Given the description of an element on the screen output the (x, y) to click on. 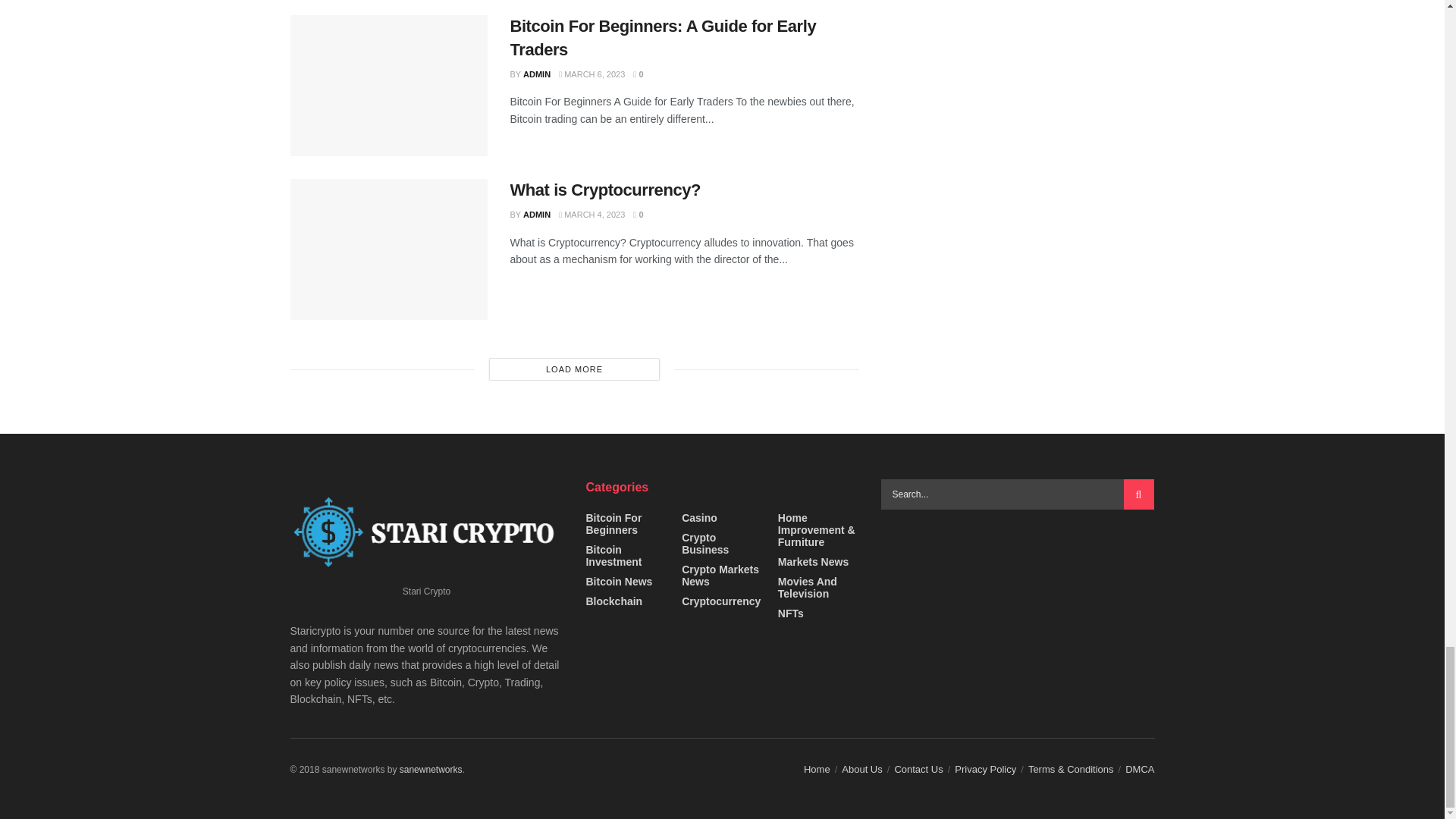
sanewnetworks (430, 769)
